Given the description of an element on the screen output the (x, y) to click on. 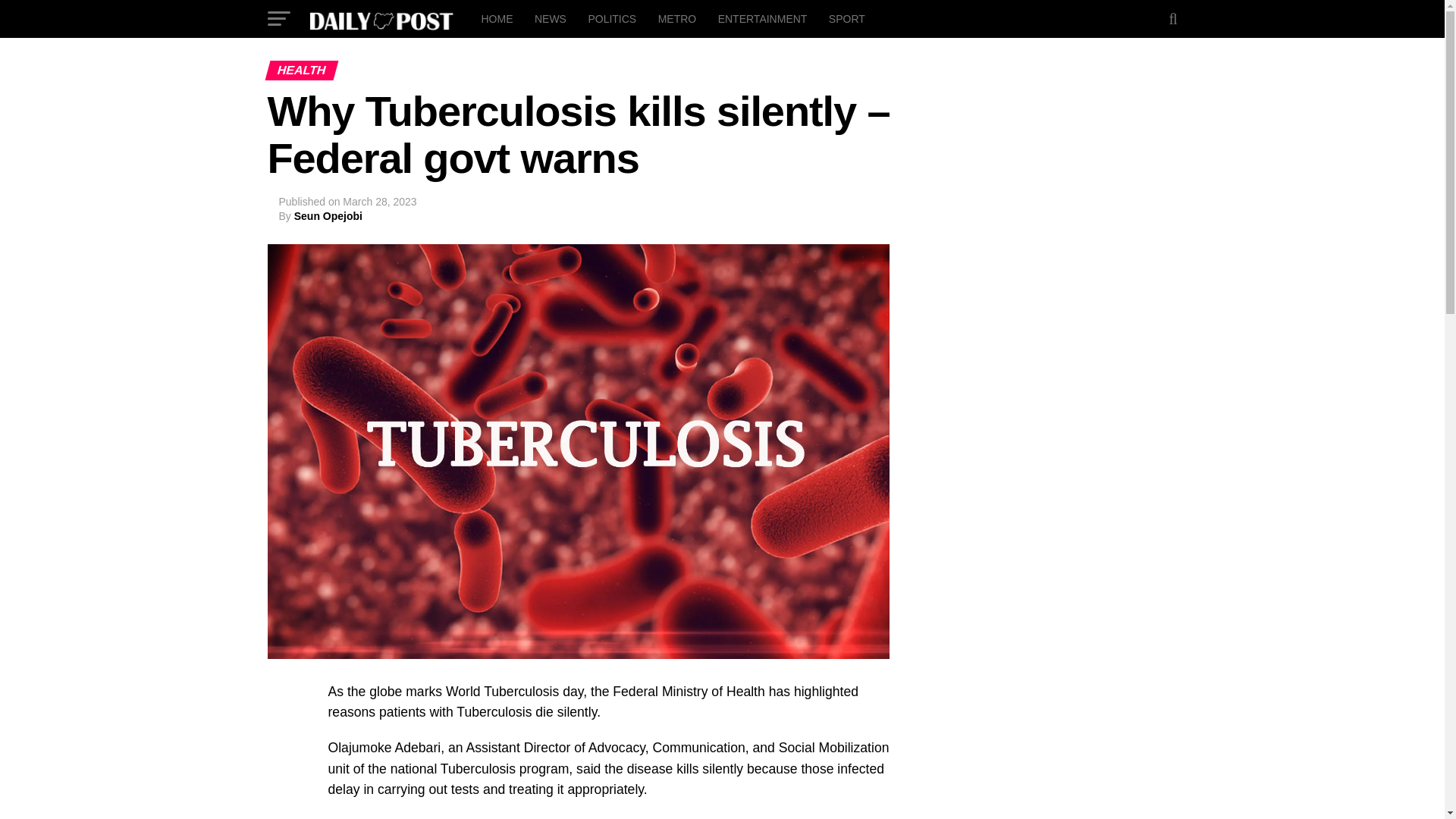
HOME (496, 18)
SPORT (847, 18)
NEWS (550, 18)
POLITICS (611, 18)
Posts by Seun Opejobi (328, 215)
ENTERTAINMENT (762, 18)
Seun Opejobi (328, 215)
METRO (677, 18)
